Given the description of an element on the screen output the (x, y) to click on. 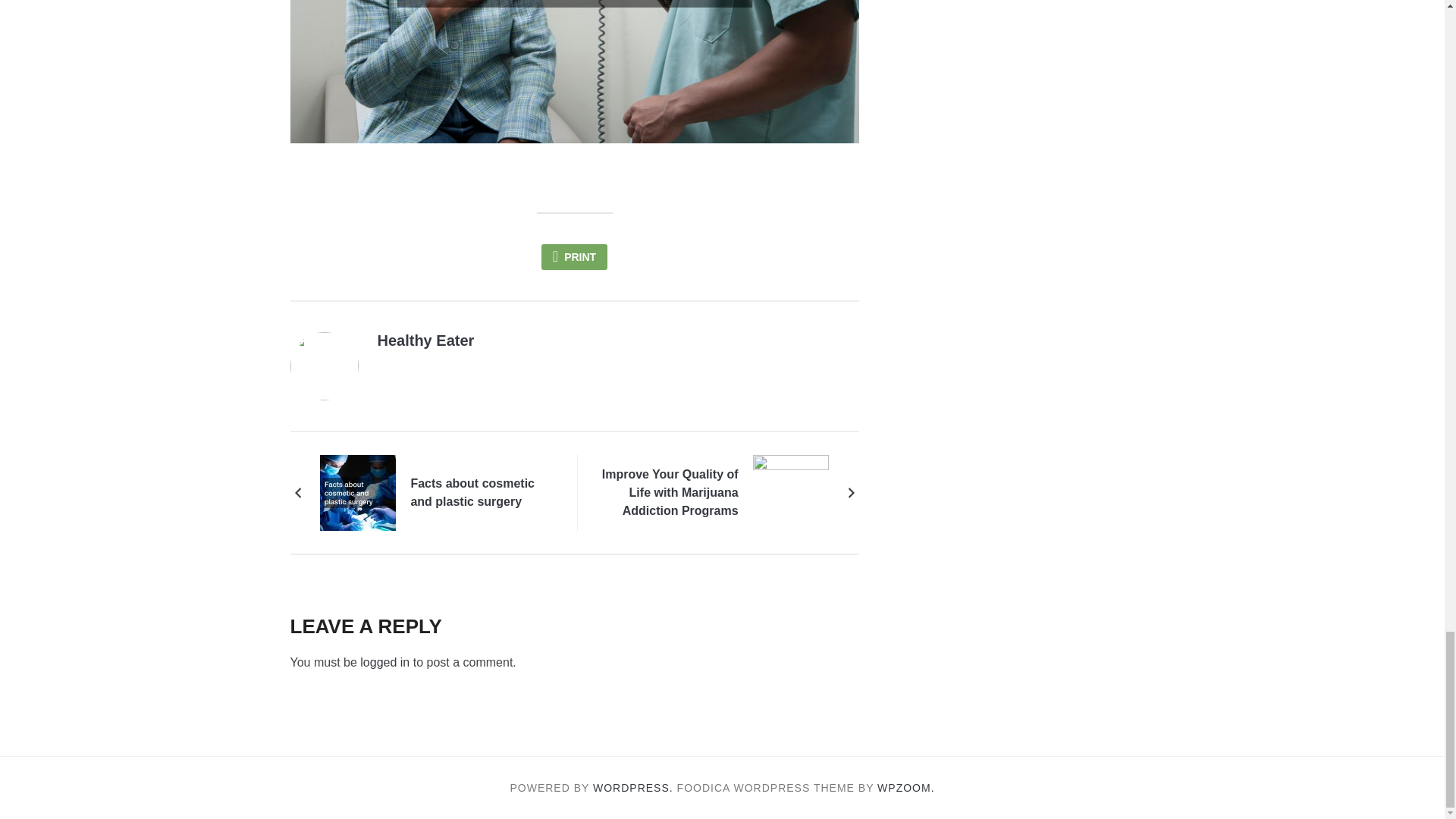
Print this Page (574, 257)
Posts by Healthy Eater (425, 340)
Healthy Eater (425, 340)
logged in (384, 662)
Facts about cosmetic and plastic surgery (480, 493)
PRINT (574, 257)
Facts about cosmetic and plastic surgery (480, 493)
